Given the description of an element on the screen output the (x, y) to click on. 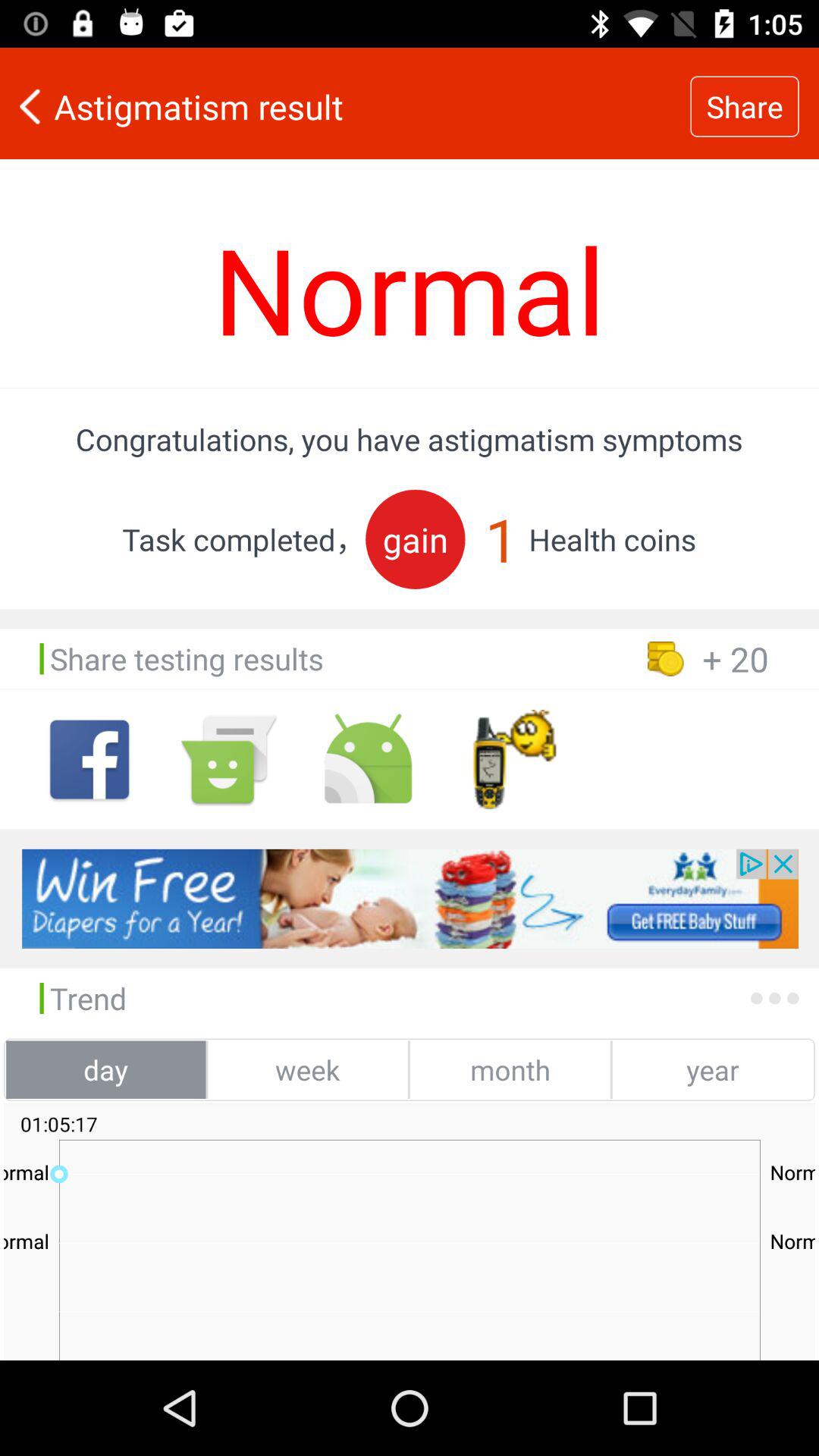
swipe until the month item (510, 1069)
